Given the description of an element on the screen output the (x, y) to click on. 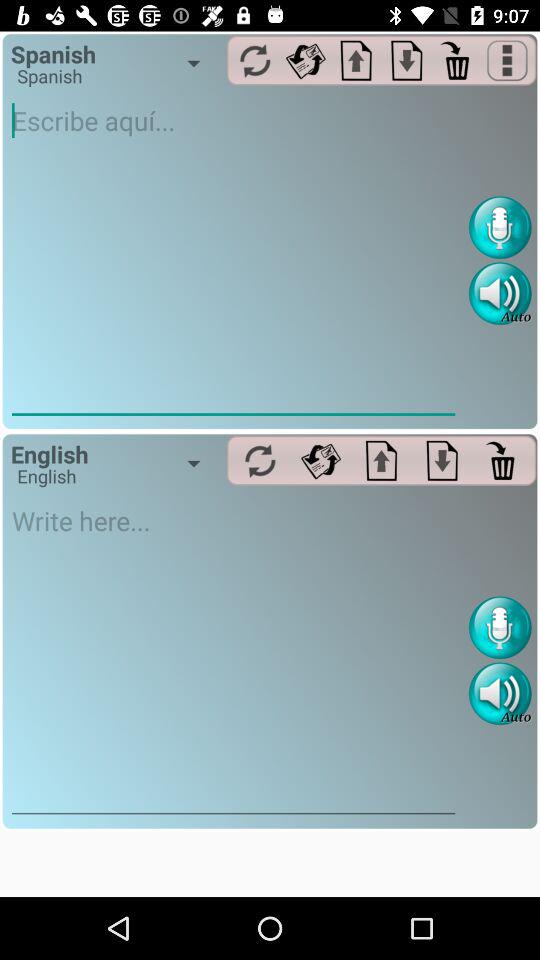
reset (254, 60)
